Given the description of an element on the screen output the (x, y) to click on. 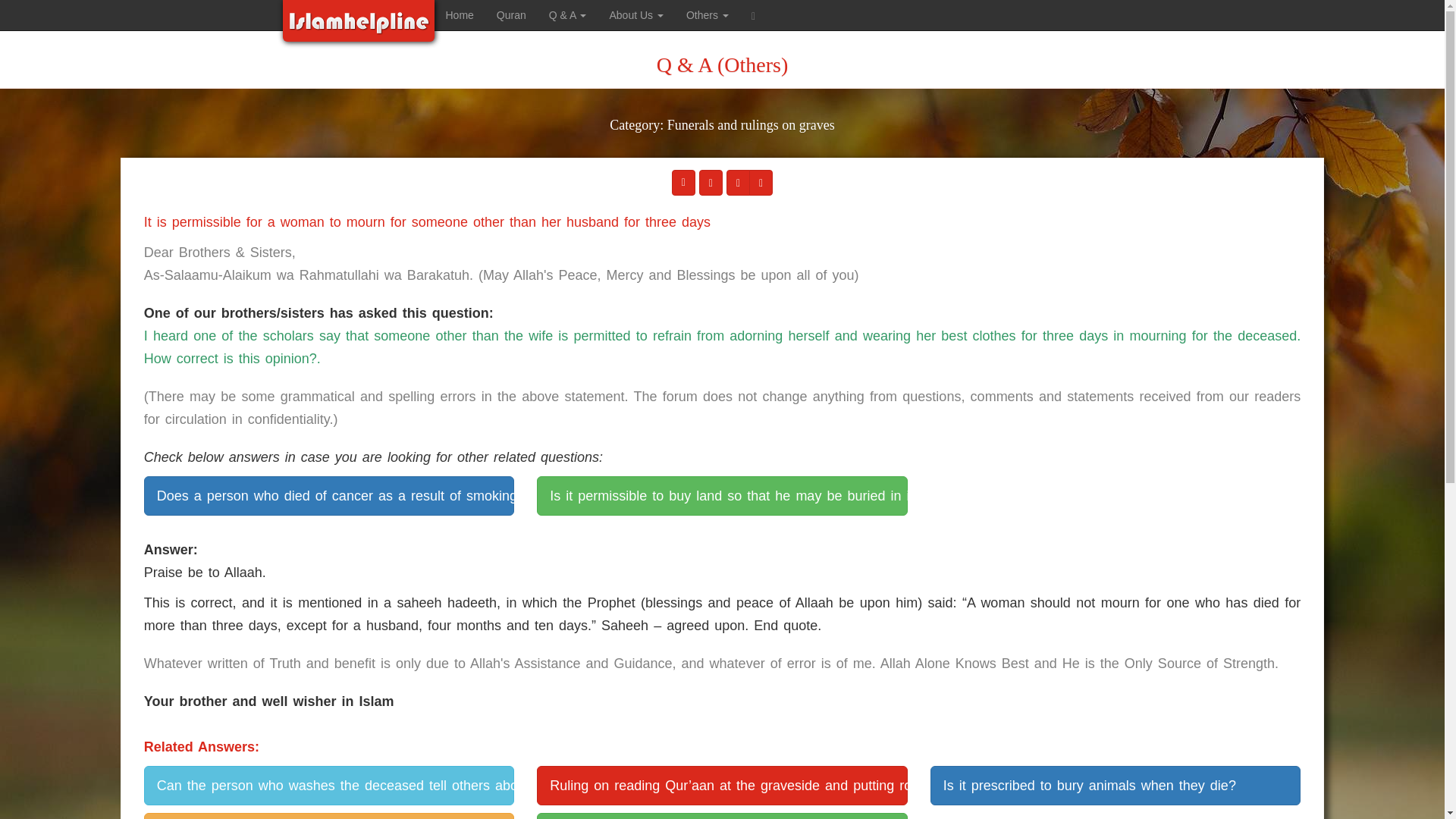
Quran (510, 15)
Category: Funerals and rulings on graves (722, 134)
About Us (635, 15)
Others (707, 15)
Home (458, 15)
Is it prescribed to bury animals when they die? (1115, 785)
